Given the description of an element on the screen output the (x, y) to click on. 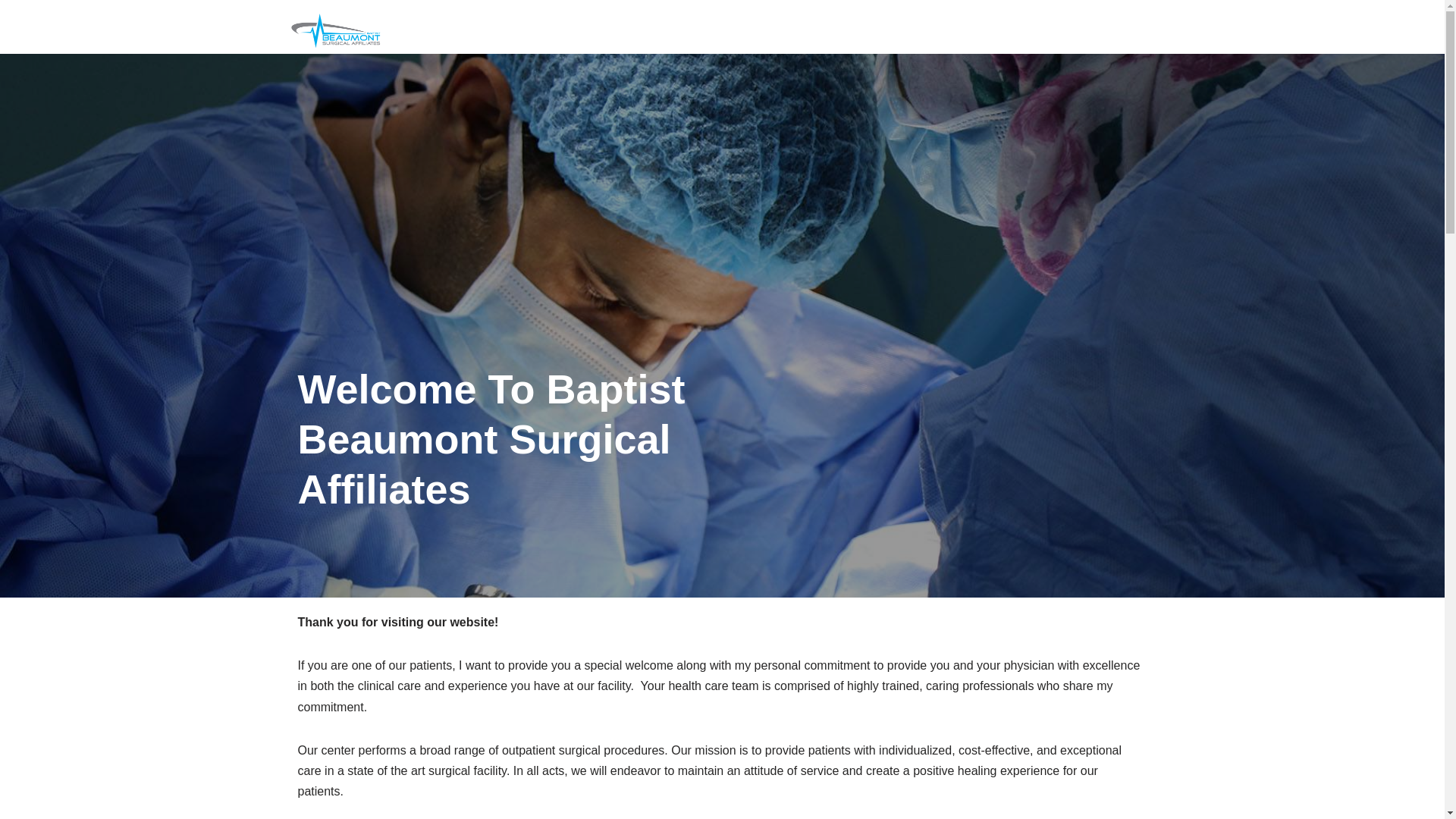
Skip to content (11, 31)
